Given the description of an element on the screen output the (x, y) to click on. 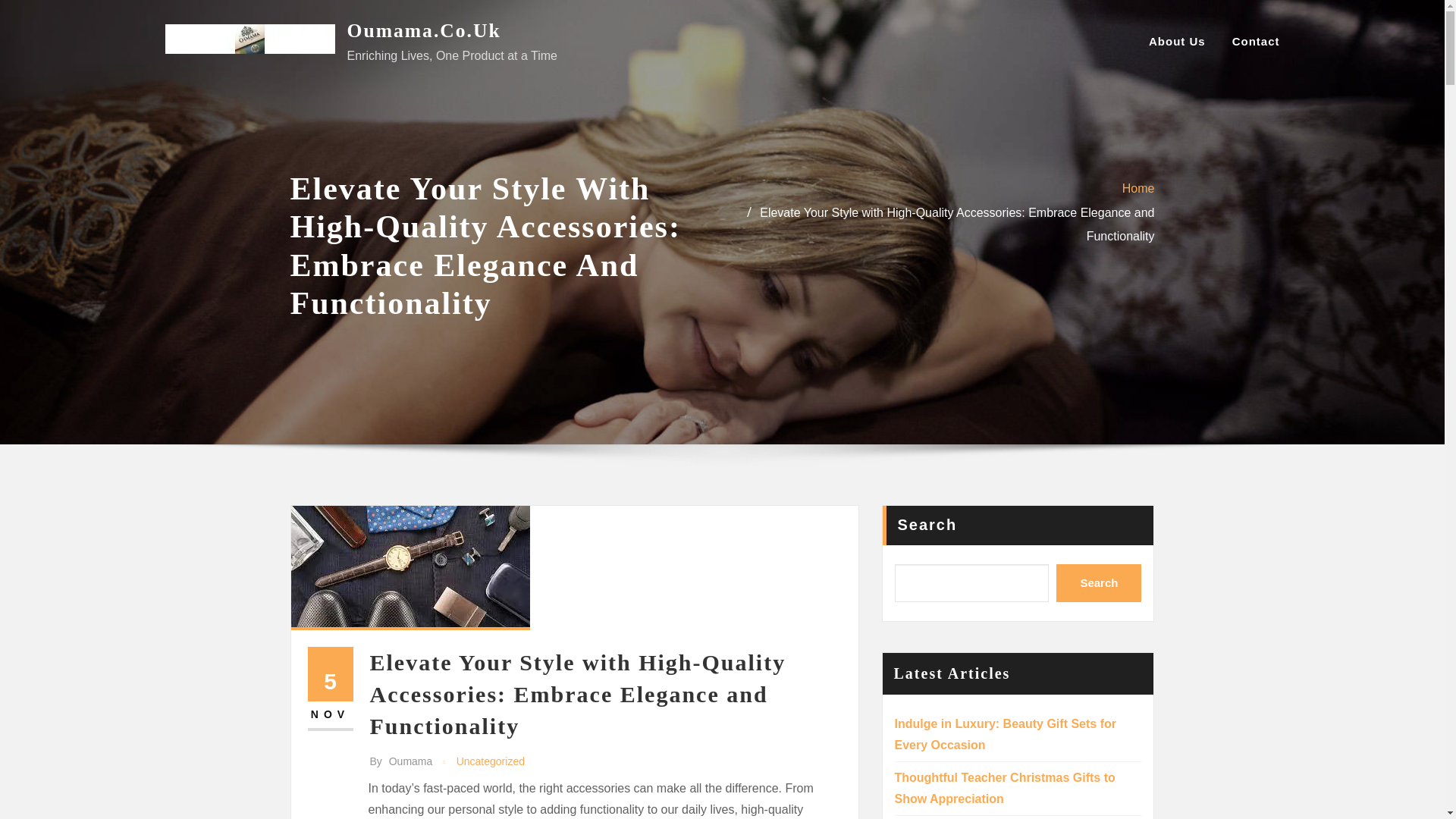
By Oumama (400, 761)
Contact (1255, 41)
Oumama.Co.Uk (423, 30)
Home (1138, 187)
Uncategorized (490, 761)
About Us (1176, 41)
